Given the description of an element on the screen output the (x, y) to click on. 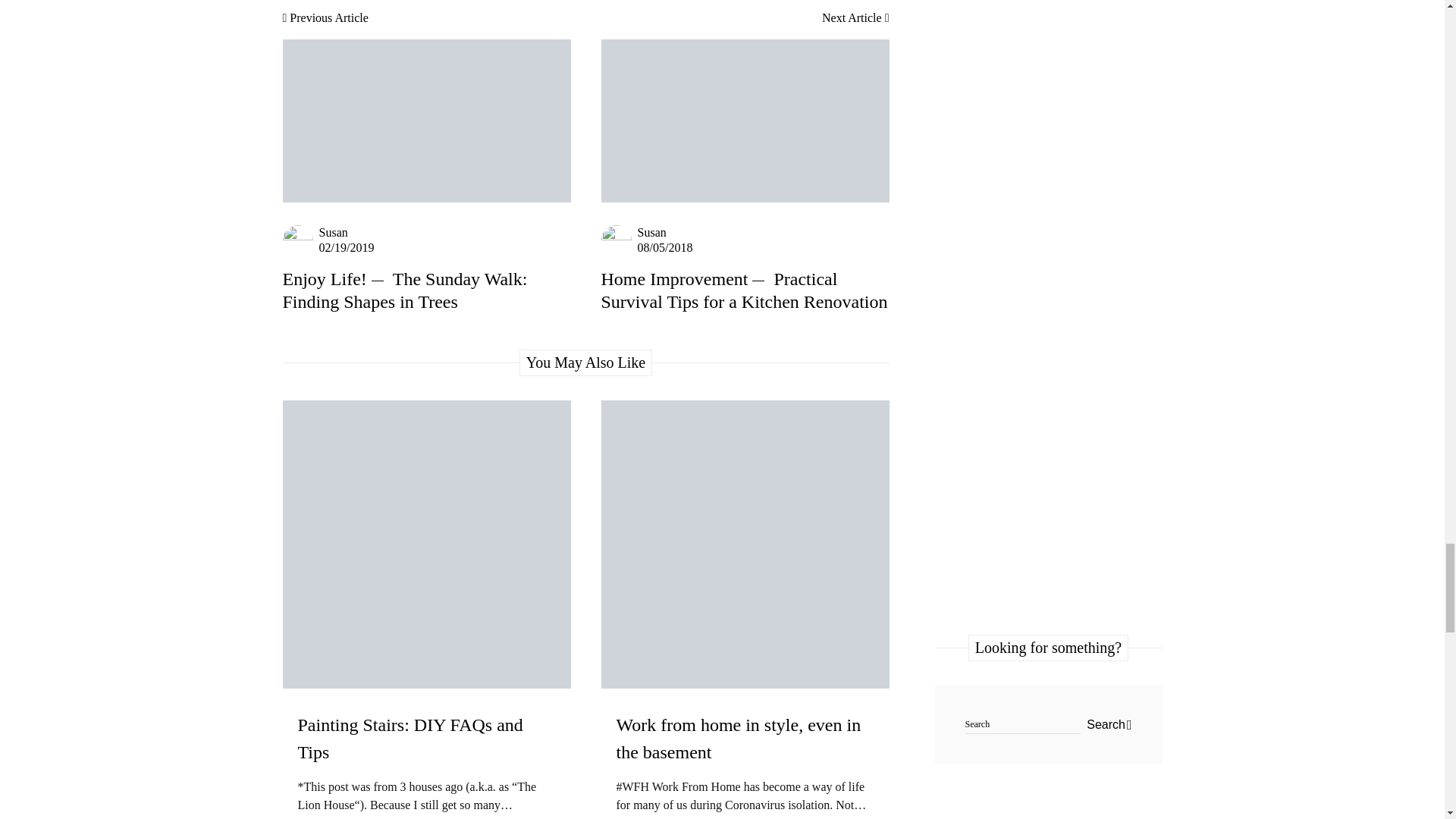
The Sunday Walk: Finding Shapes in Trees (404, 290)
Painting Stairs: DIY FAQs and Tips (425, 752)
Practical Survival Tips for a Kitchen Renovation (742, 290)
Work from home in style, even in the basement (744, 752)
